Given the description of an element on the screen output the (x, y) to click on. 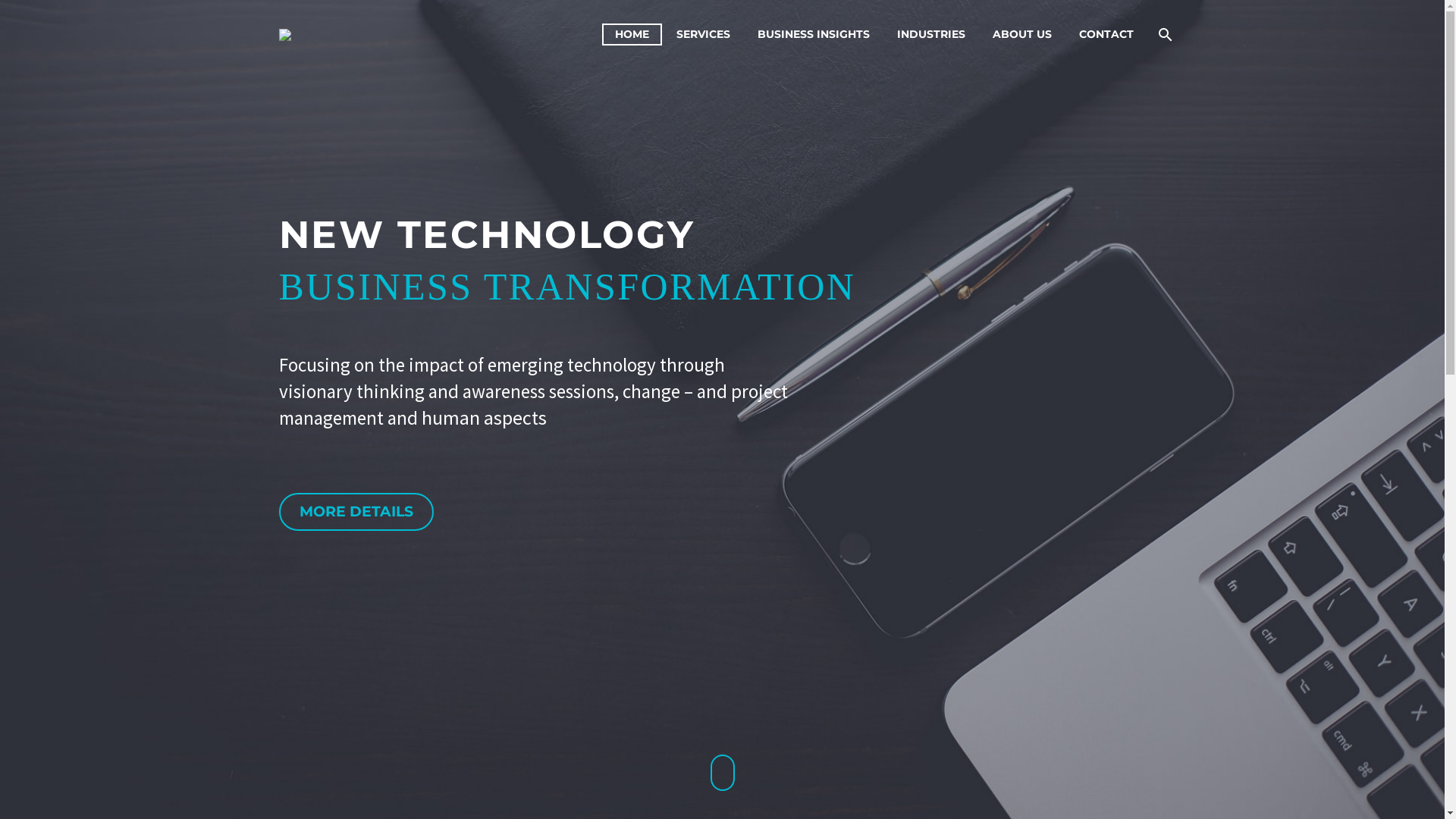
SERVICES Element type: text (702, 34)
HOME Element type: text (632, 34)
mouse Element type: text (721, 772)
ABOUT US Element type: text (1022, 34)
INDUSTRIES Element type: text (930, 34)
BUSINESS INSIGHTS Element type: text (813, 34)
CONTACT Element type: text (1106, 34)
MORE DETAILS Element type: text (356, 511)
